Given the description of an element on the screen output the (x, y) to click on. 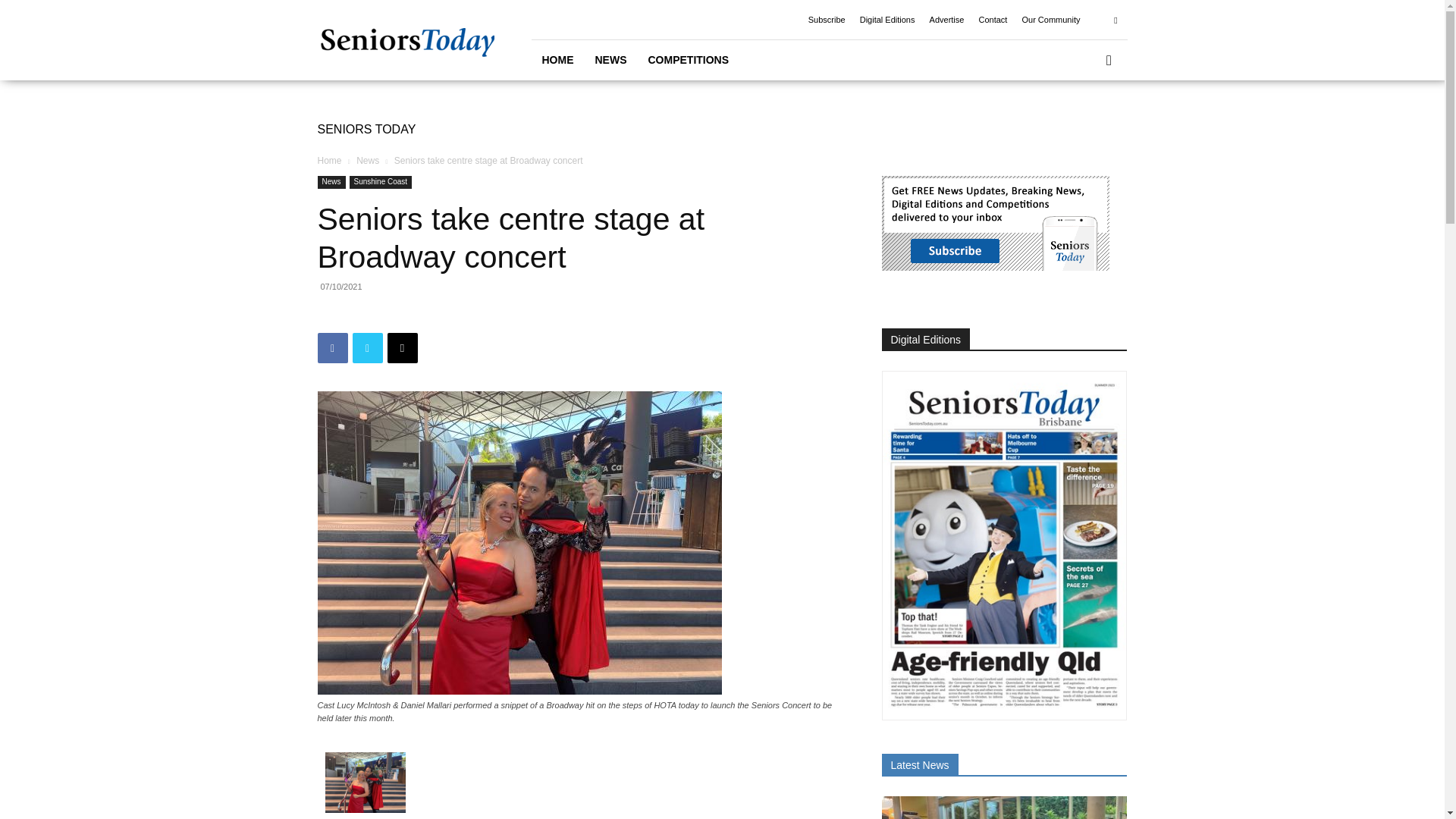
Home (328, 160)
Contact (992, 19)
Facebook (1114, 19)
Our Community (1051, 19)
COMPETITIONS (688, 60)
Digital Editions (887, 19)
Twitter (366, 347)
Subscribe (826, 19)
HOME (557, 60)
News (367, 160)
Facebook (332, 347)
View all posts in News (367, 160)
Search (1085, 122)
Advertise (946, 19)
